Given the description of an element on the screen output the (x, y) to click on. 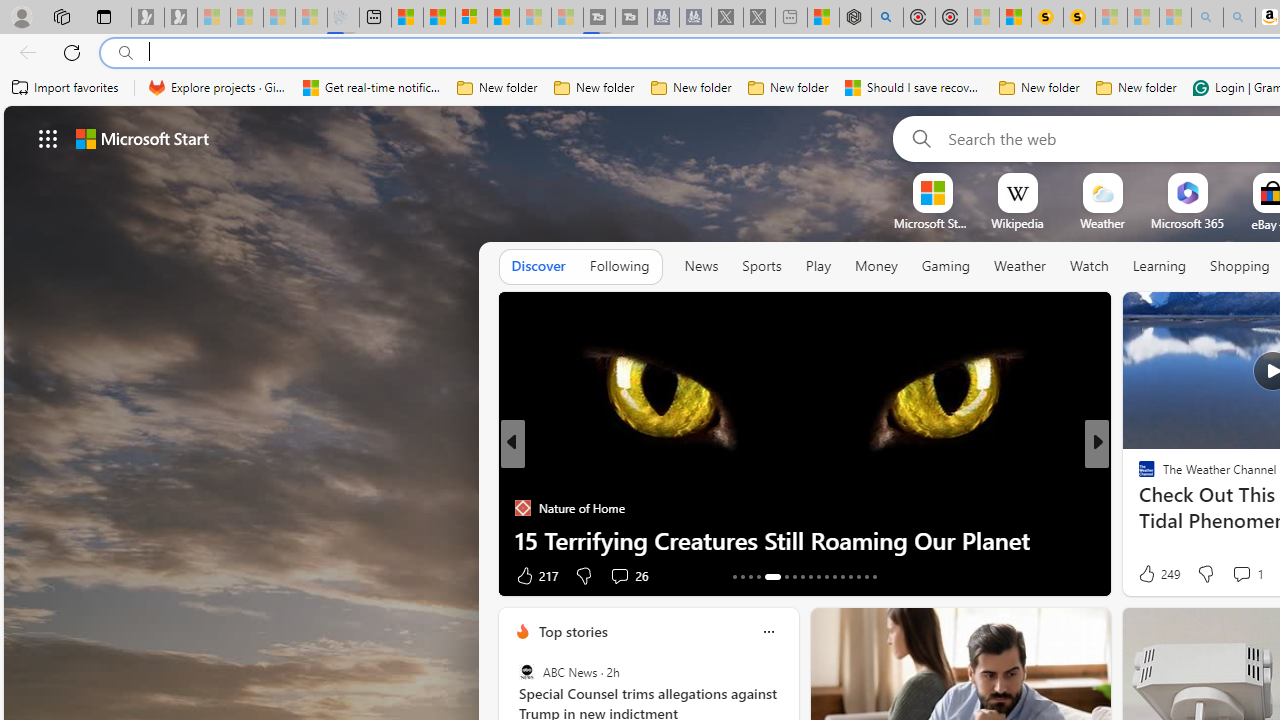
606 Like (1151, 574)
View comments 366 Comment (1247, 574)
View comments 3 Comment (1234, 575)
View comments 5 Comment (1229, 575)
poe - Search (886, 17)
AutomationID: tab-29 (874, 576)
AutomationID: waffle (47, 138)
Fast Company (1138, 475)
View comments 366 Comment (1234, 575)
Import favorites (65, 88)
